Given the description of an element on the screen output the (x, y) to click on. 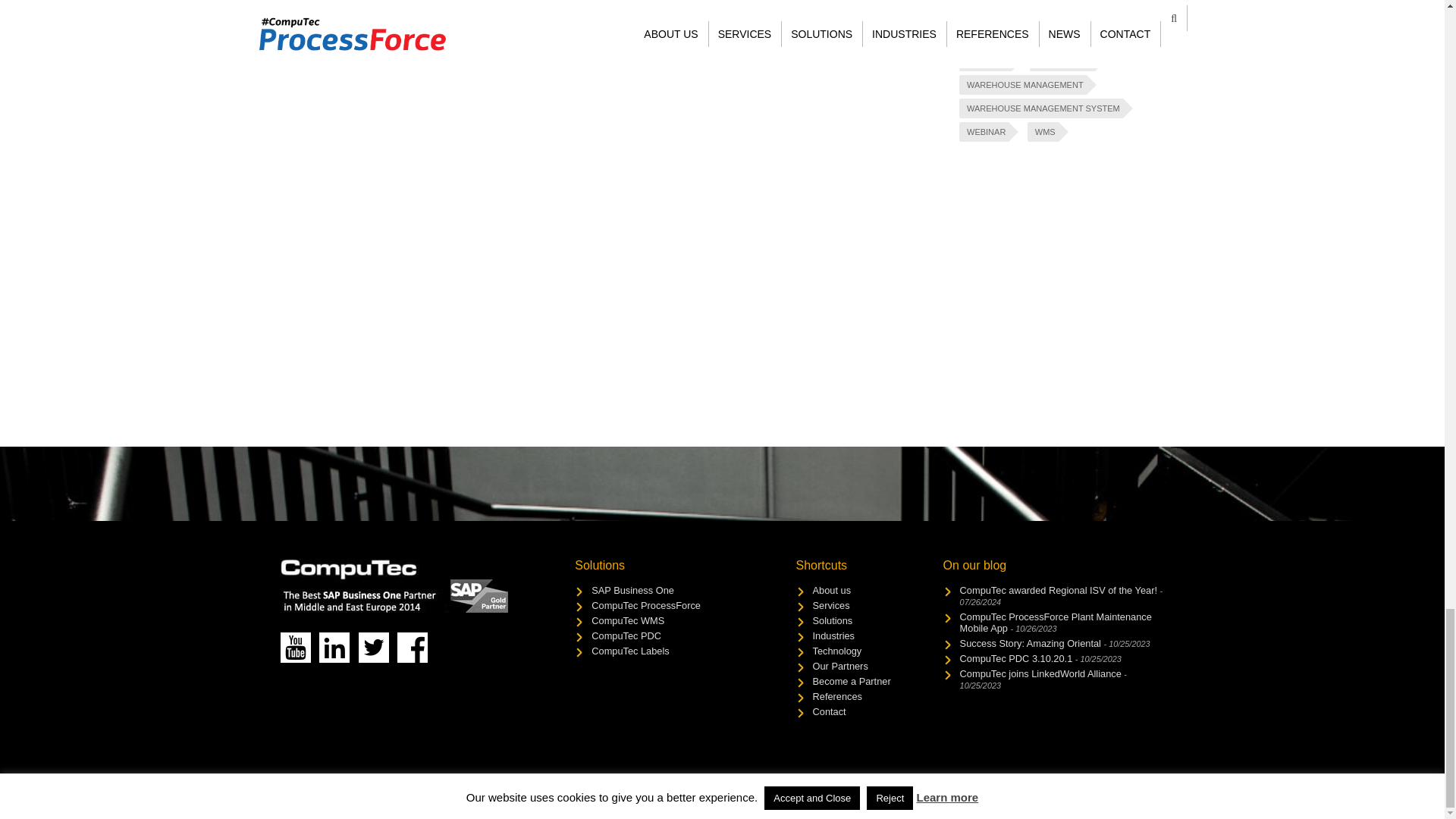
Success Story: Amazing Oriental (1054, 643)
CompuTec joins LinkedWorld Alliance (1042, 679)
CompuTec awarded Regional ISV of the Year! (1061, 595)
CompuTec PDC 3.10.20.1 (1040, 658)
CompuTec ProcessForce Plant Maintenance Mobile App (1055, 621)
